Given the description of an element on the screen output the (x, y) to click on. 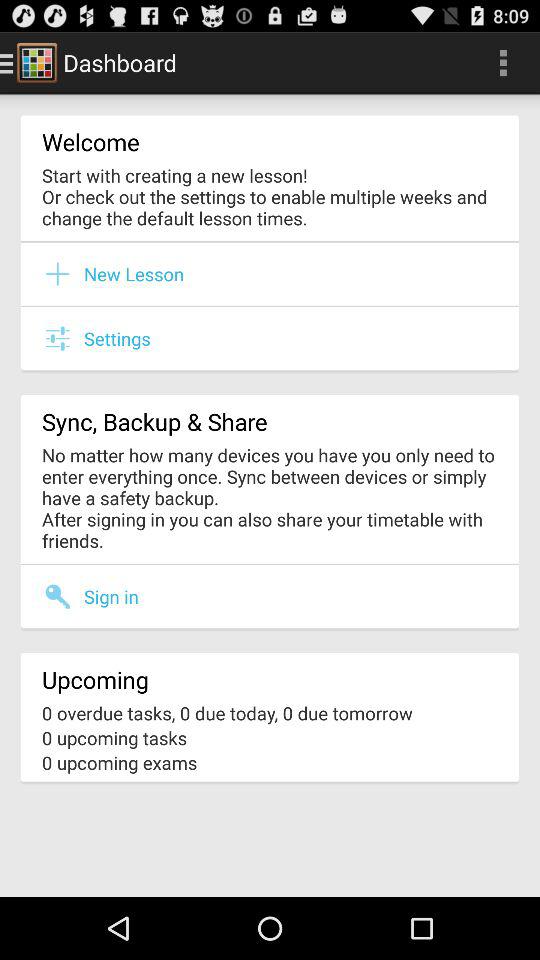
press no matter how (269, 497)
